Given the description of an element on the screen output the (x, y) to click on. 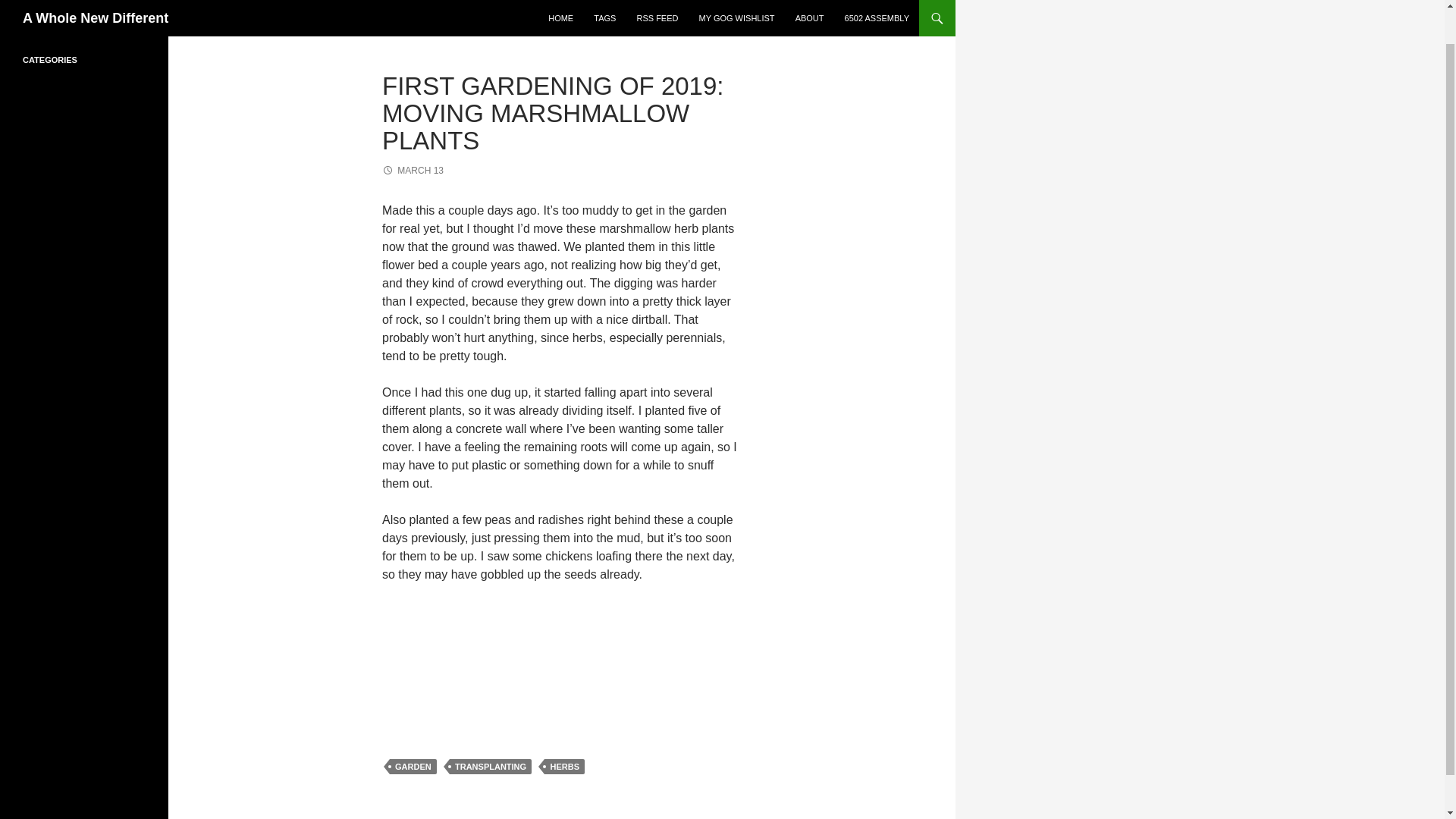
GARDEN (413, 766)
MARCH 13 (412, 170)
HERBS (564, 766)
TRANSPLANTING (490, 766)
